Given the description of an element on the screen output the (x, y) to click on. 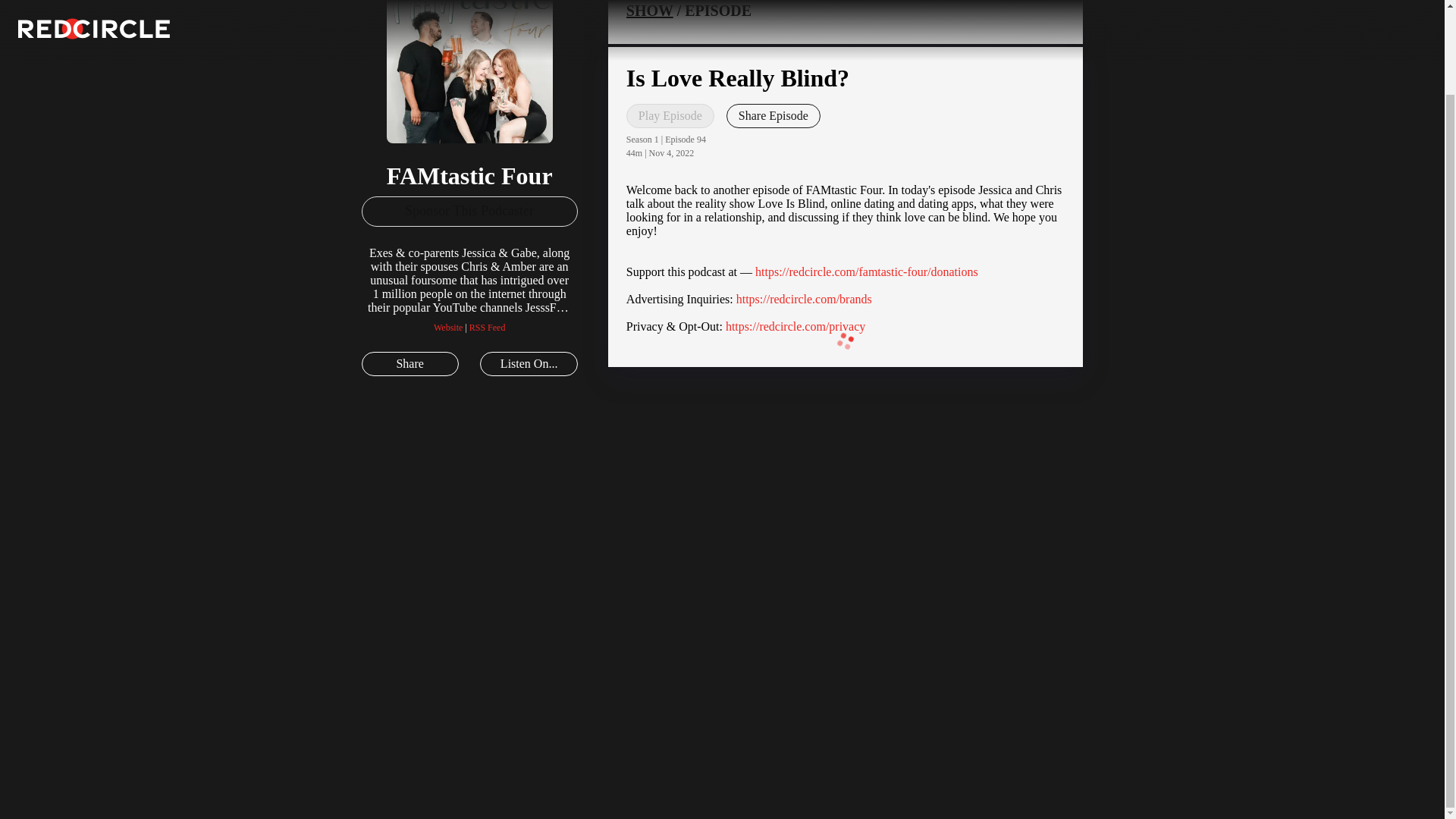
Listen On... (528, 363)
Share Episode (773, 115)
RSS Feed (486, 327)
Website (448, 327)
Share (409, 363)
Sponsor This Podcaster (468, 211)
SHOW (649, 10)
Play Episode (670, 115)
